Given the description of an element on the screen output the (x, y) to click on. 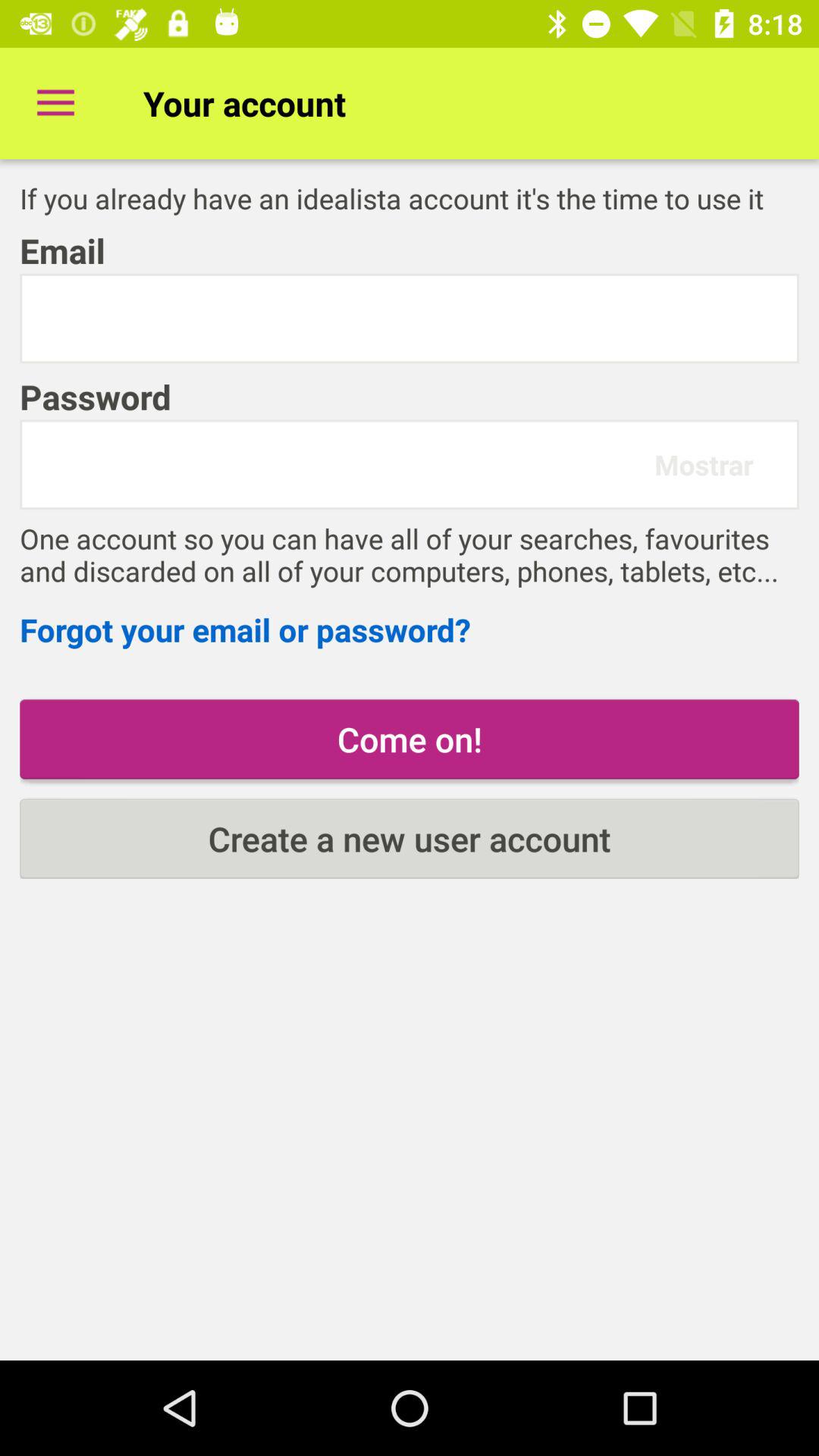
launch the icon at the top right corner (703, 464)
